Given the description of an element on the screen output the (x, y) to click on. 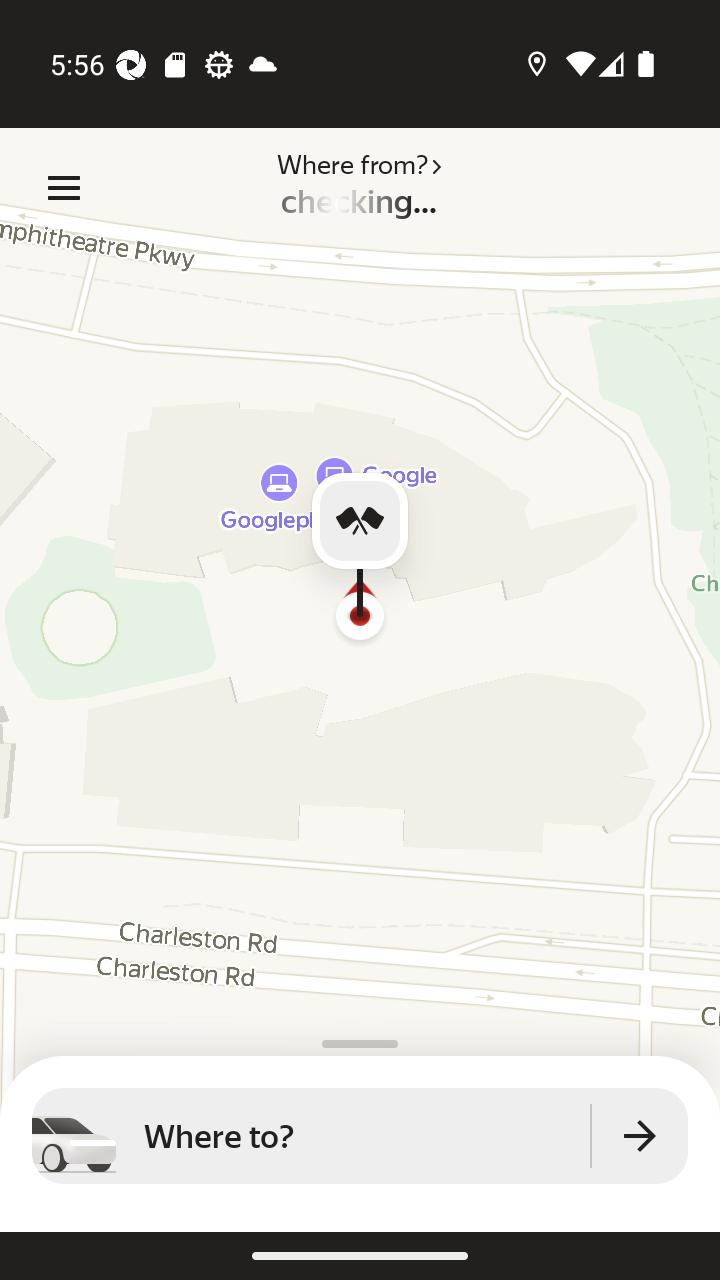
Menu Menu Menu (64, 188)
Where to? Where to? To the choice of address (359, 1136)
To the choice of address (639, 1136)
